Given the description of an element on the screen output the (x, y) to click on. 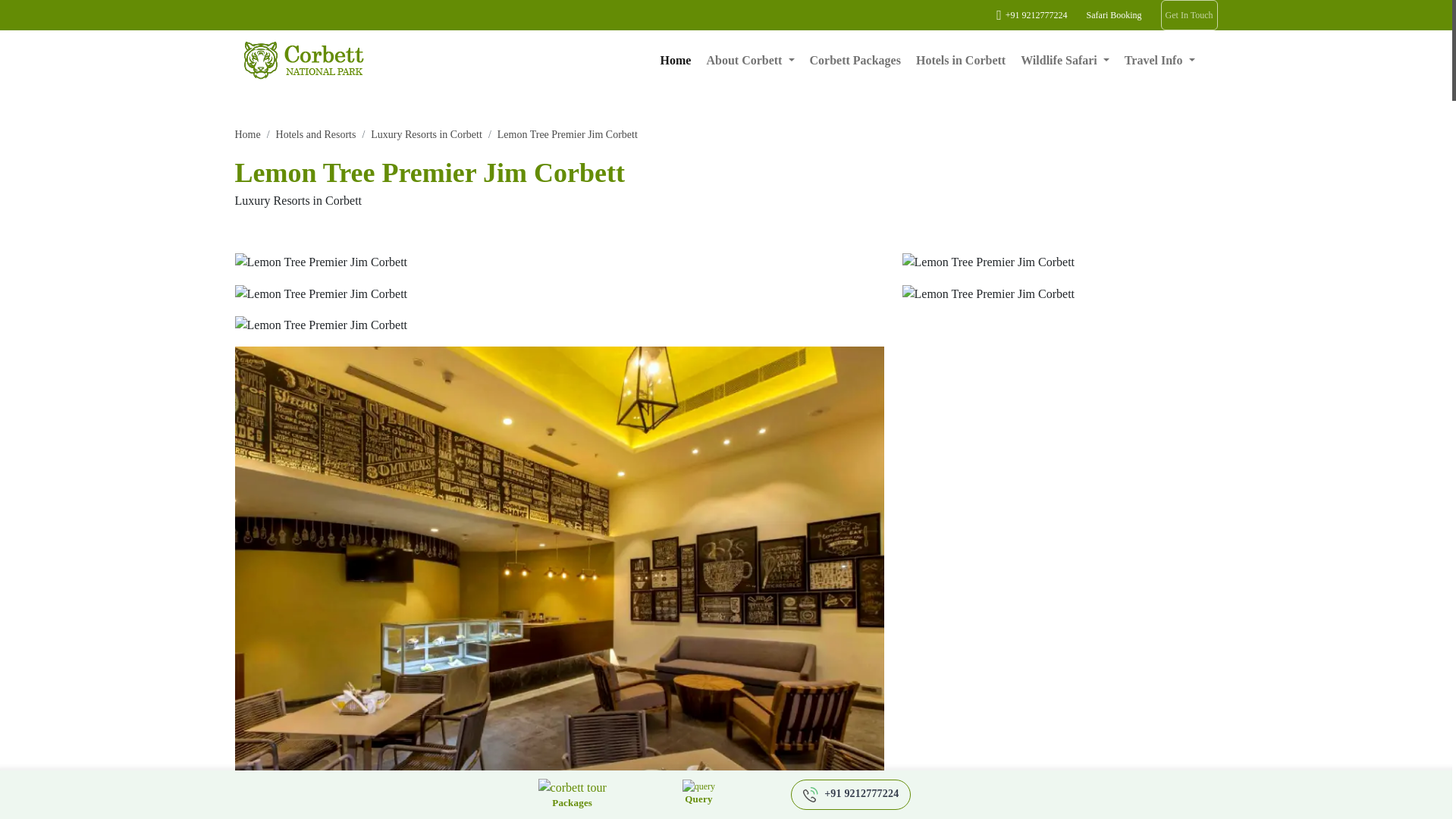
Home (676, 60)
Travel Info (1159, 60)
Luxury Resorts in Corbett (426, 134)
Wildlife Safari (1064, 60)
Home (247, 134)
Get In Touch (1188, 15)
Hotels and Resorts (316, 134)
Hotels in Corbett (960, 60)
Lemon Tree Premier Jim Corbett (567, 134)
Corbett Packages (855, 60)
